Given the description of an element on the screen output the (x, y) to click on. 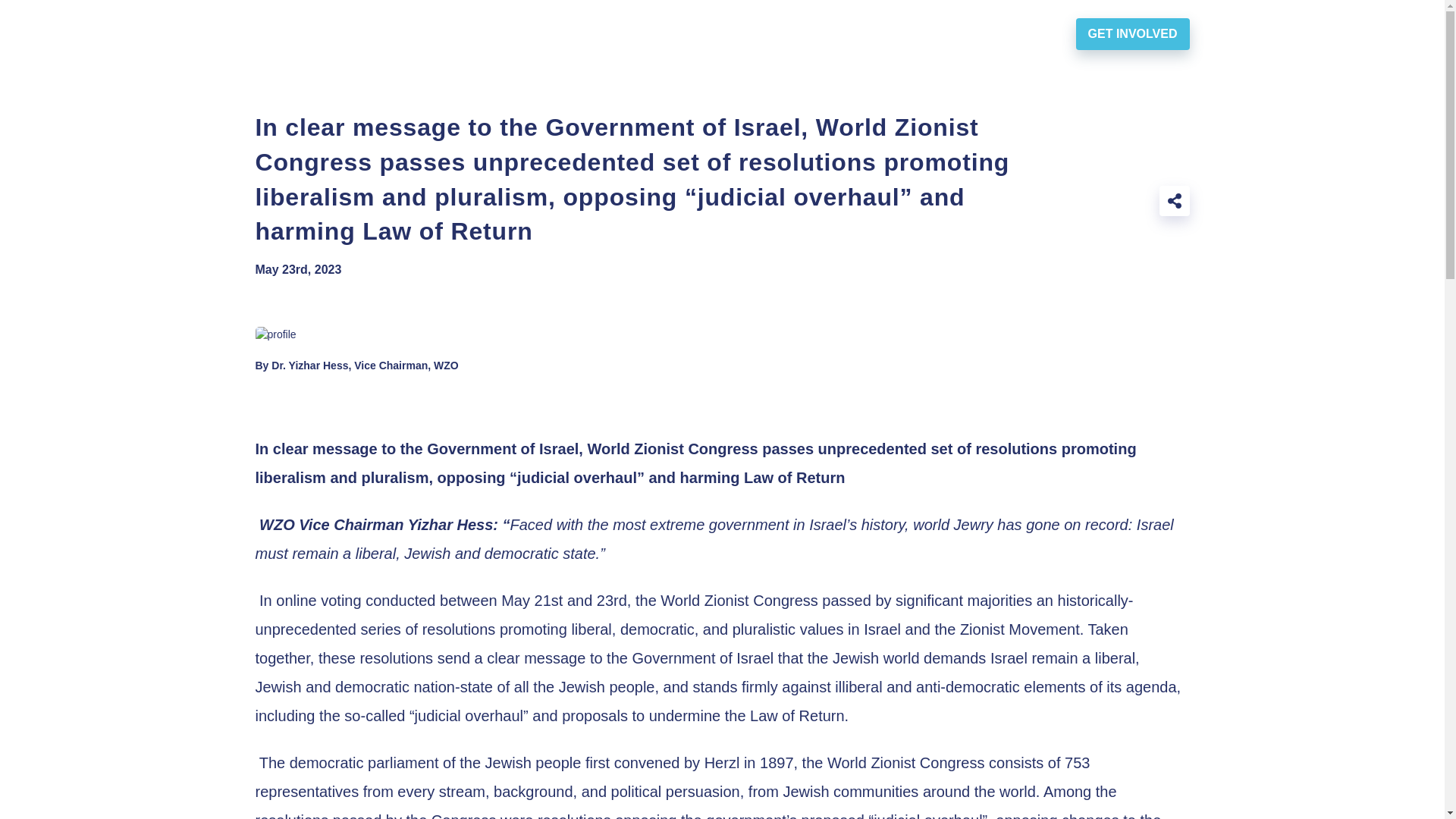
HOME (516, 33)
WHAT WE DO (736, 33)
GET INVOLVED (1132, 33)
THE NATIONAL INSTITUTIONS (896, 33)
WHO WE ARE (617, 33)
